Given the description of an element on the screen output the (x, y) to click on. 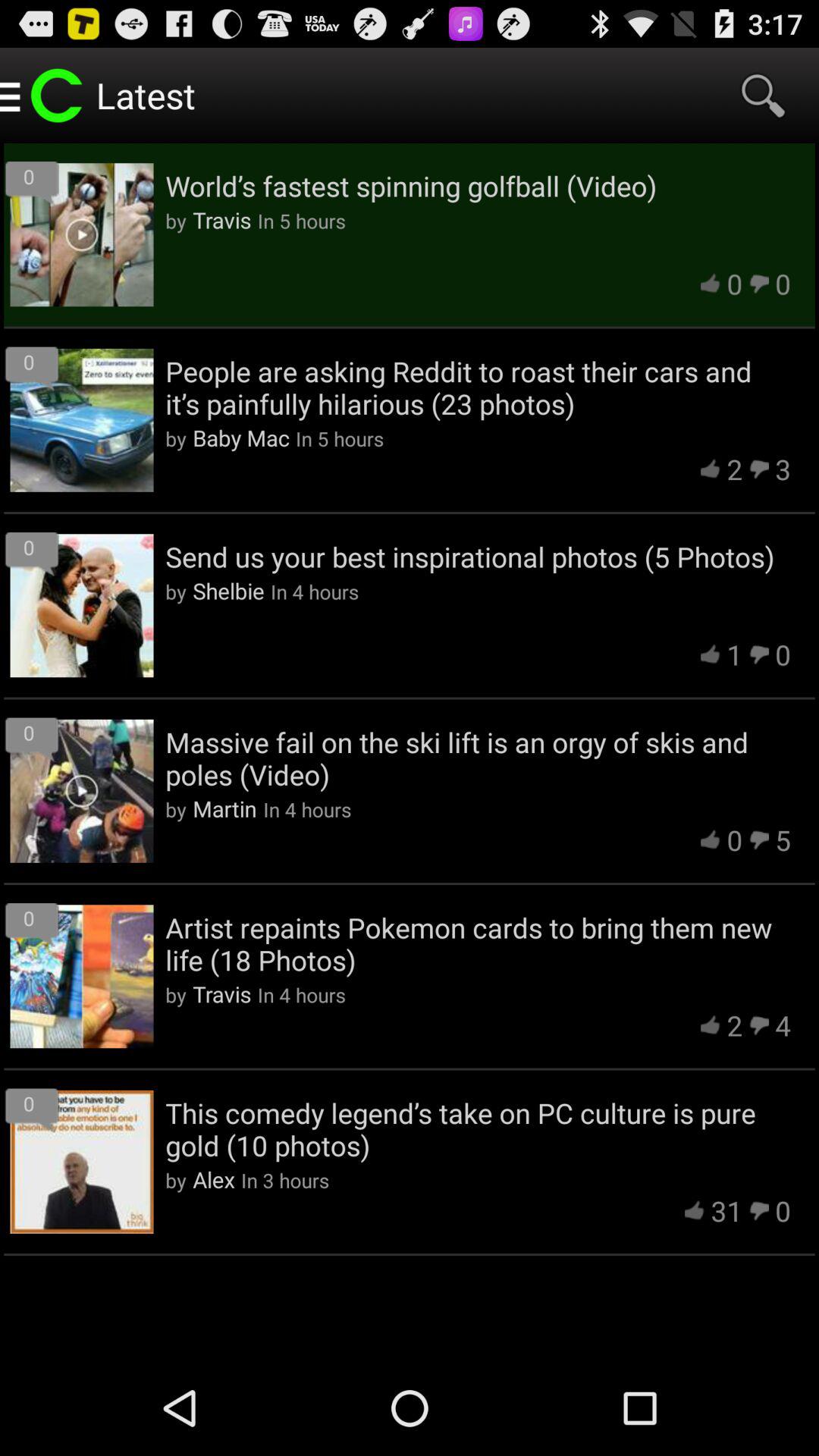
tap the app to the right of by icon (213, 1179)
